Given the description of an element on the screen output the (x, y) to click on. 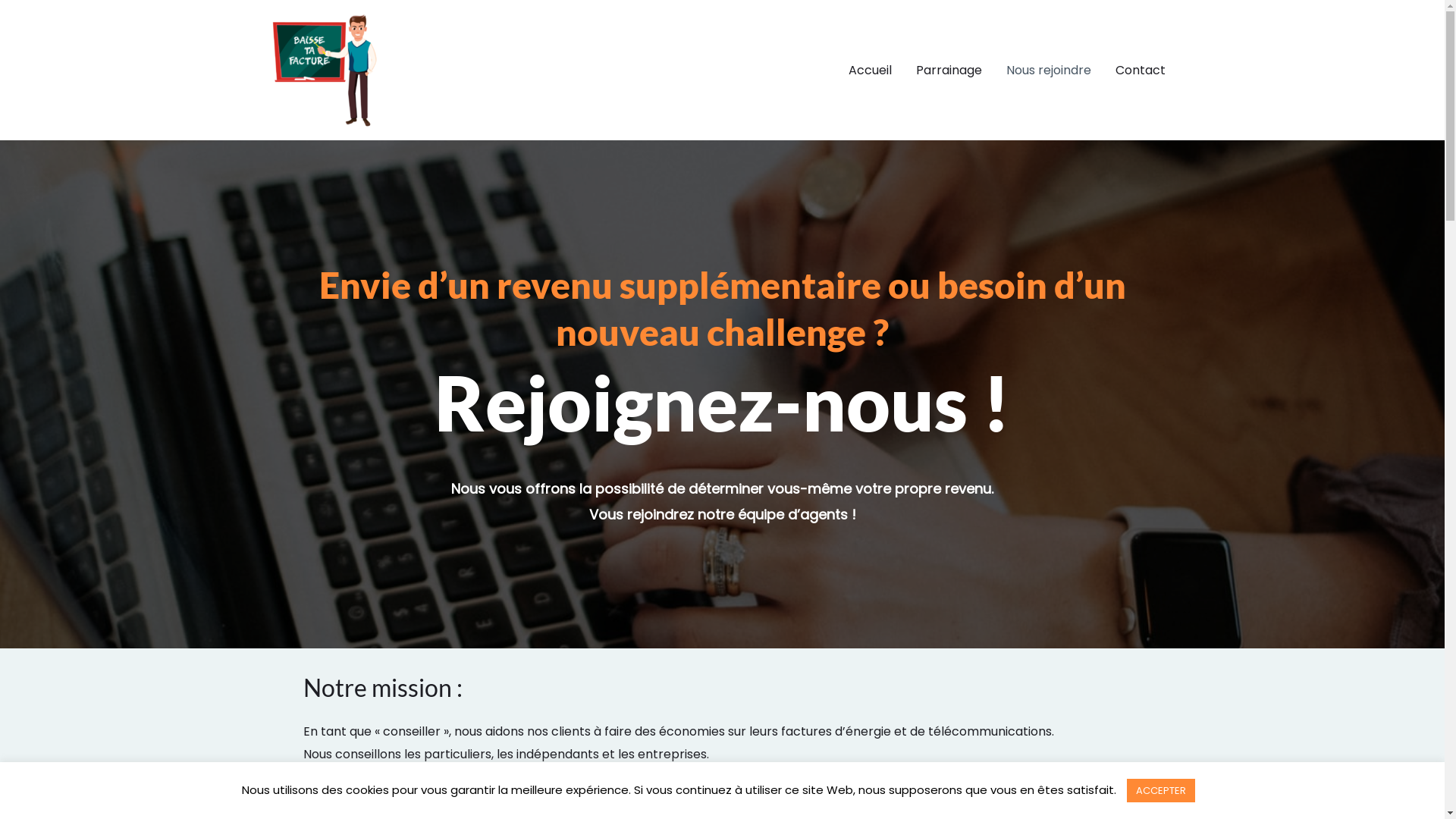
Contact Element type: text (1139, 69)
Accueil Element type: text (869, 69)
ACCEPTER Element type: text (1160, 790)
Parrainage Element type: text (948, 69)
Nous rejoindre Element type: text (1047, 69)
